Given the description of an element on the screen output the (x, y) to click on. 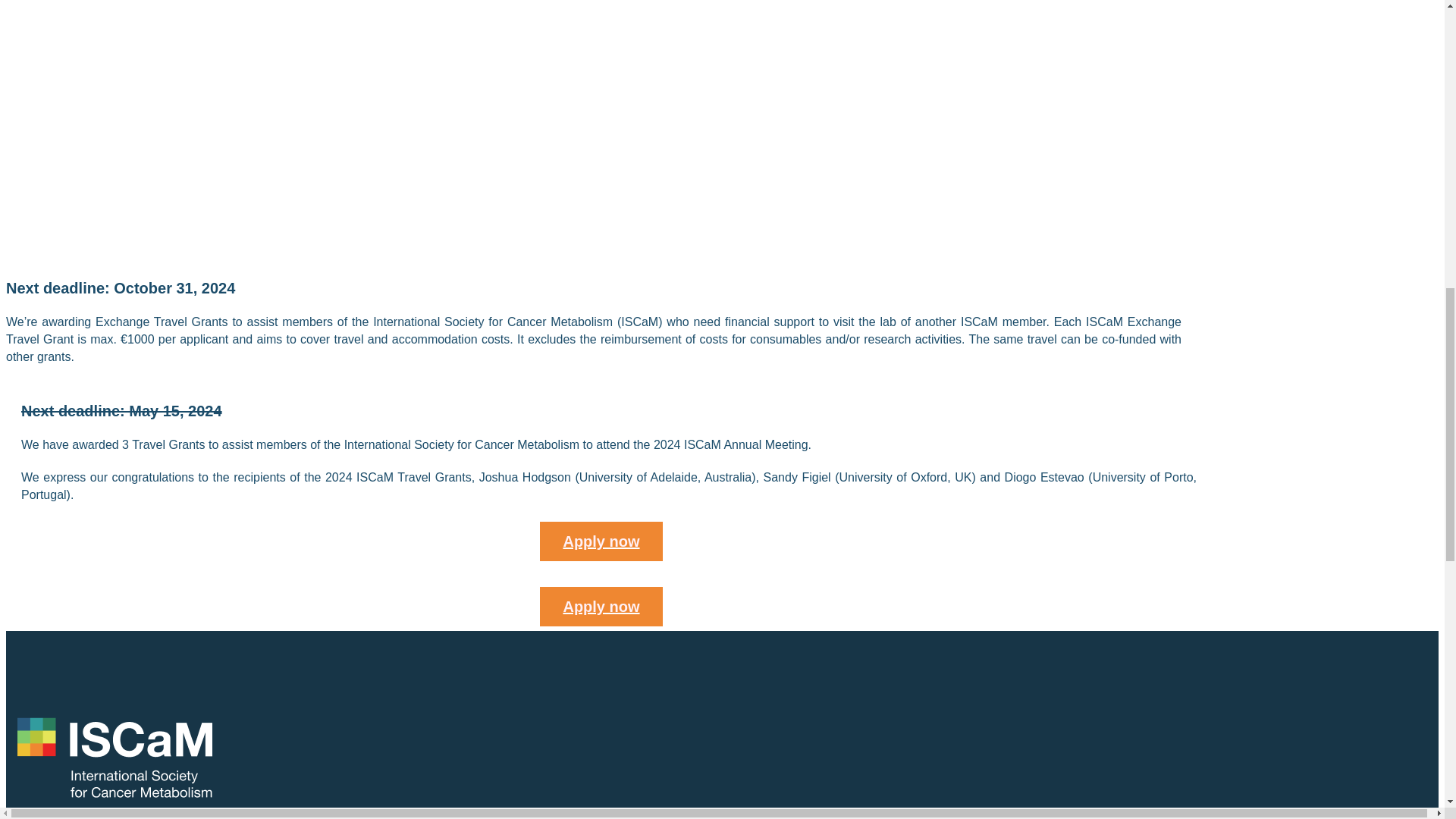
Apply now (601, 541)
Apply now (601, 606)
